Given the description of an element on the screen output the (x, y) to click on. 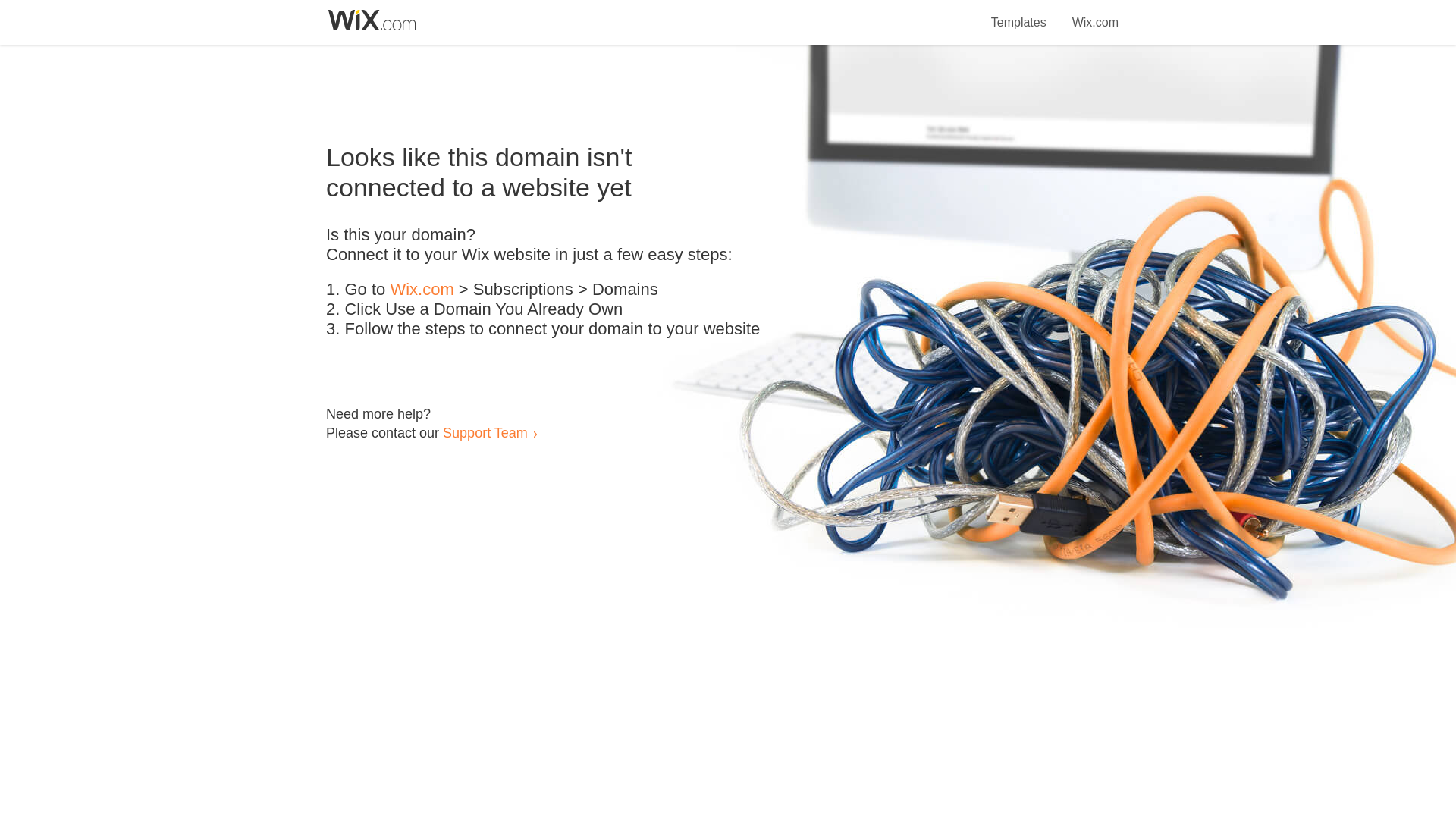
Wix.com (1095, 14)
Support Team (484, 432)
Wix.com (421, 289)
Templates (1018, 14)
